Given the description of an element on the screen output the (x, y) to click on. 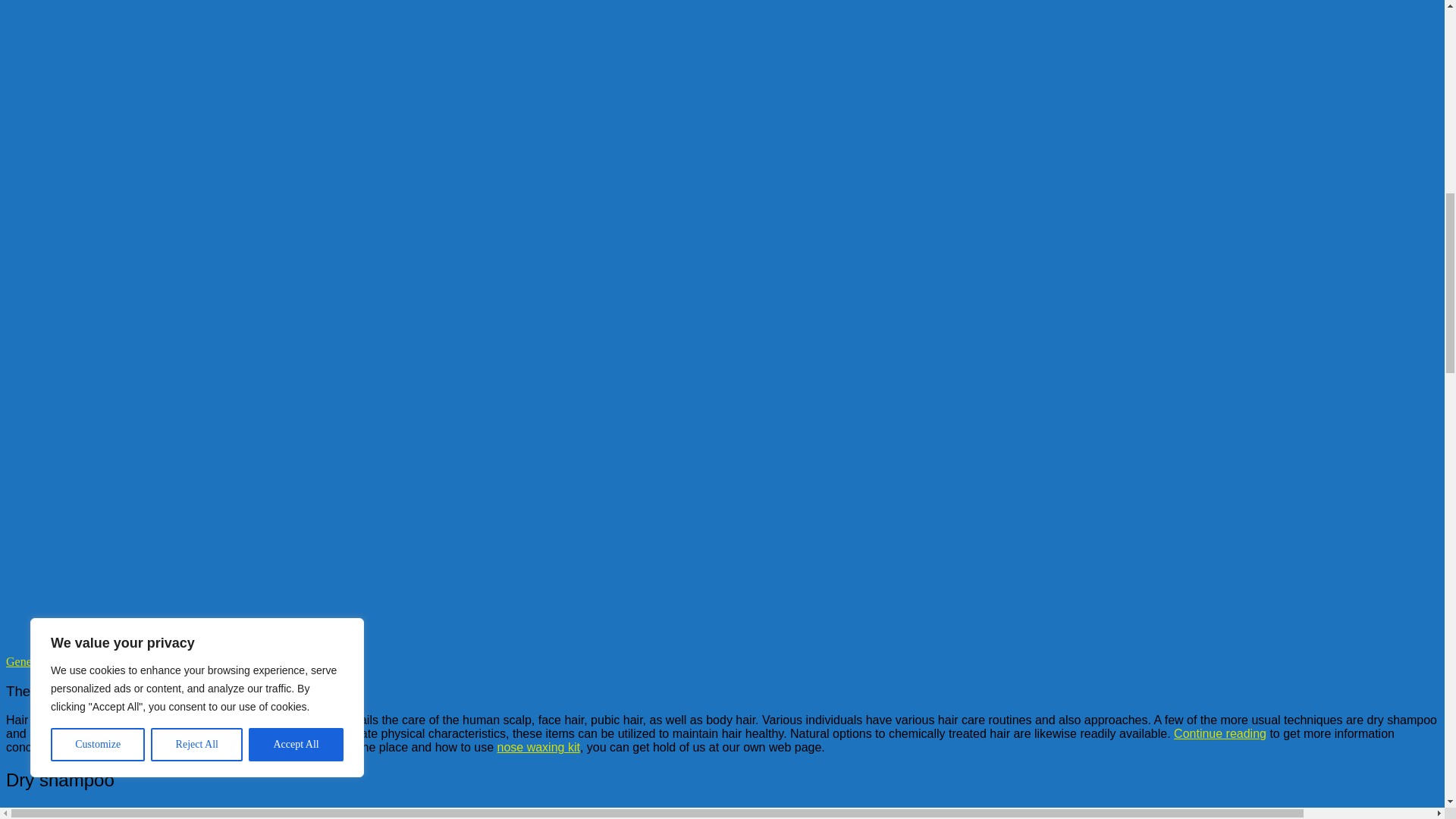
nose waxing kit (538, 747)
General (25, 661)
Continue reading (1219, 733)
hair consistently (500, 812)
